Given the description of an element on the screen output the (x, y) to click on. 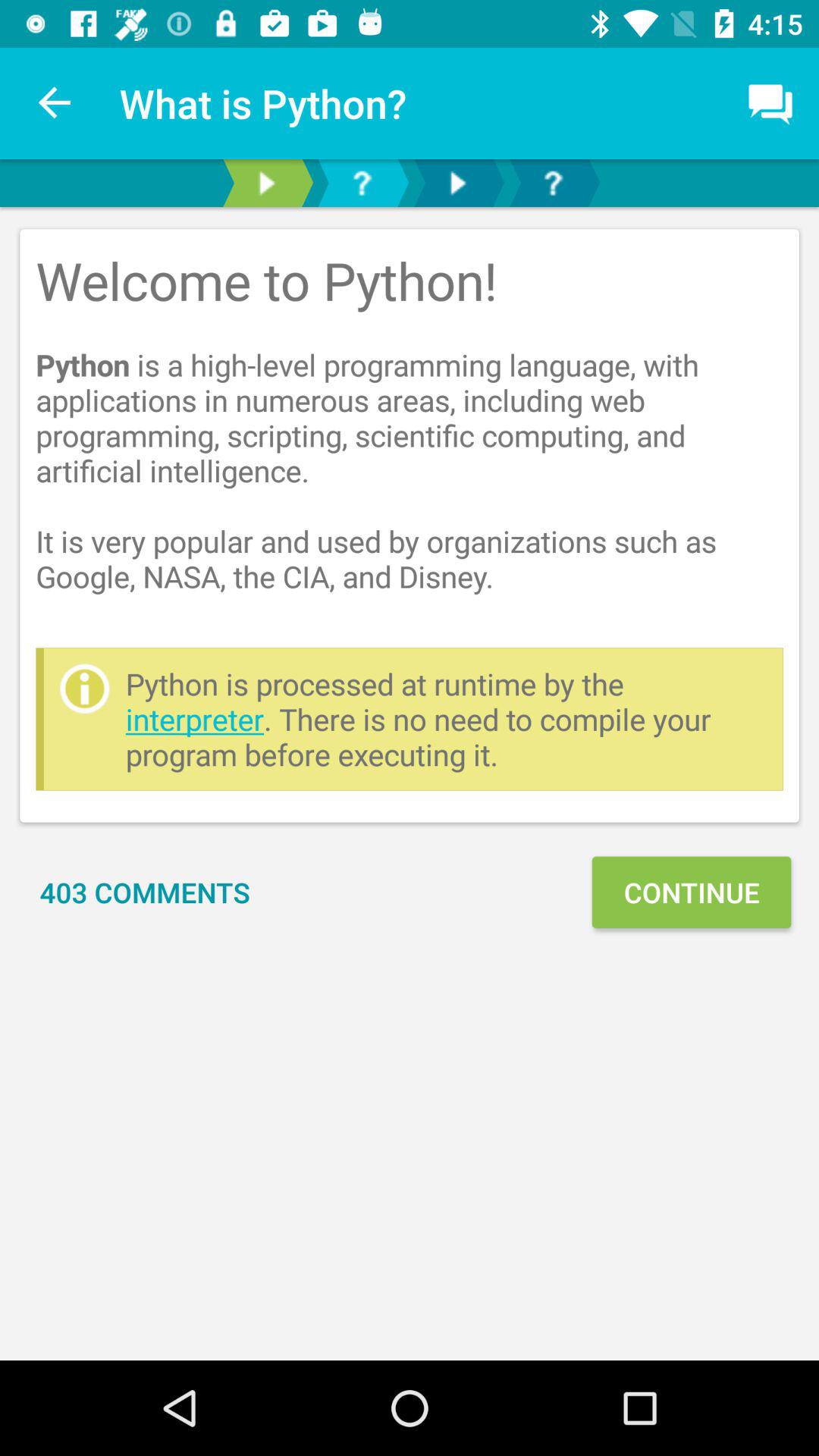
help (361, 183)
